Given the description of an element on the screen output the (x, y) to click on. 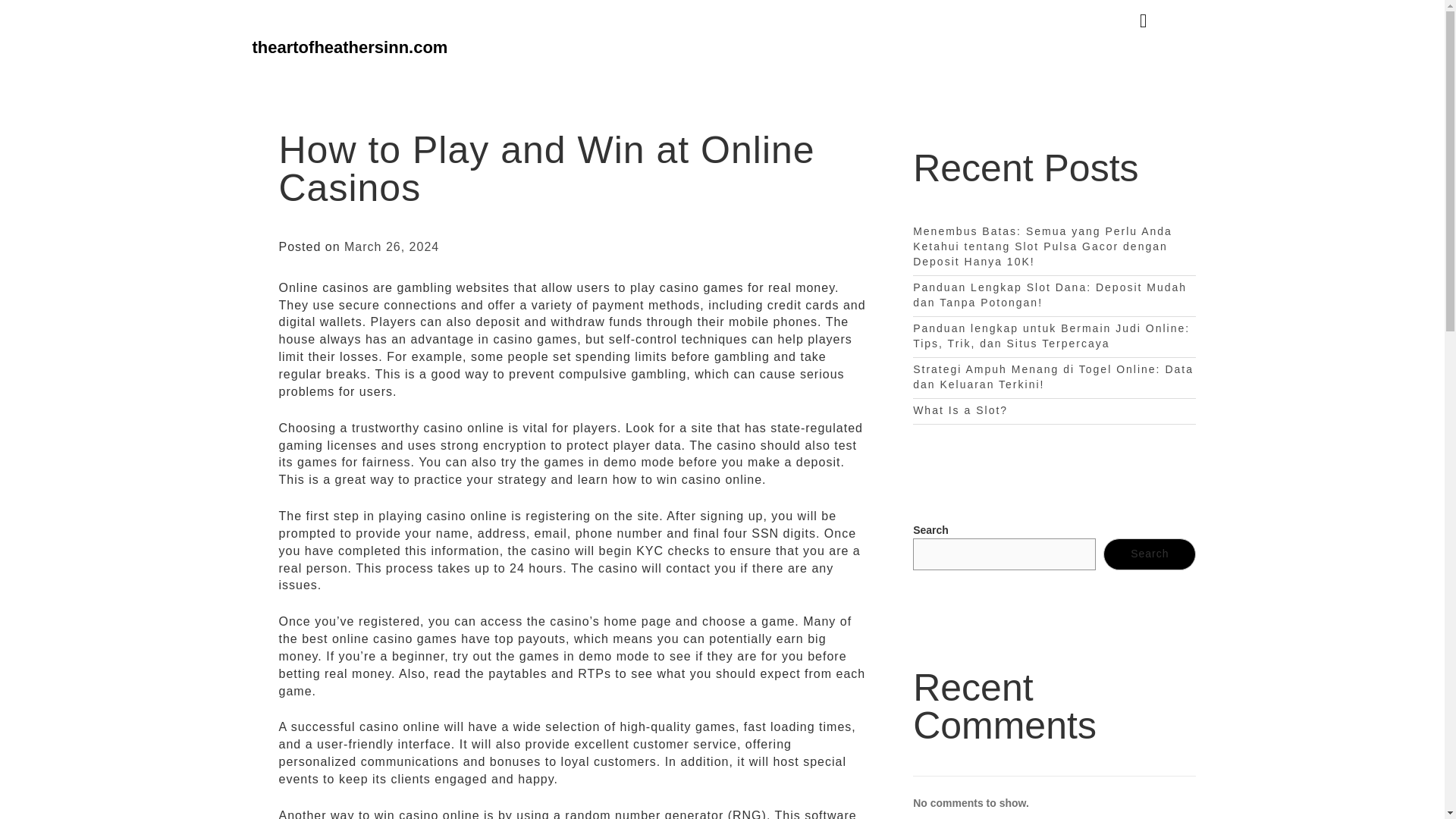
Panduan Lengkap Slot Dana: Deposit Mudah dan Tanpa Potongan! (1049, 294)
theartofheathersinn.com (348, 46)
What Is a Slot? (959, 410)
March 26, 2024 (391, 246)
Search (1149, 554)
